Given the description of an element on the screen output the (x, y) to click on. 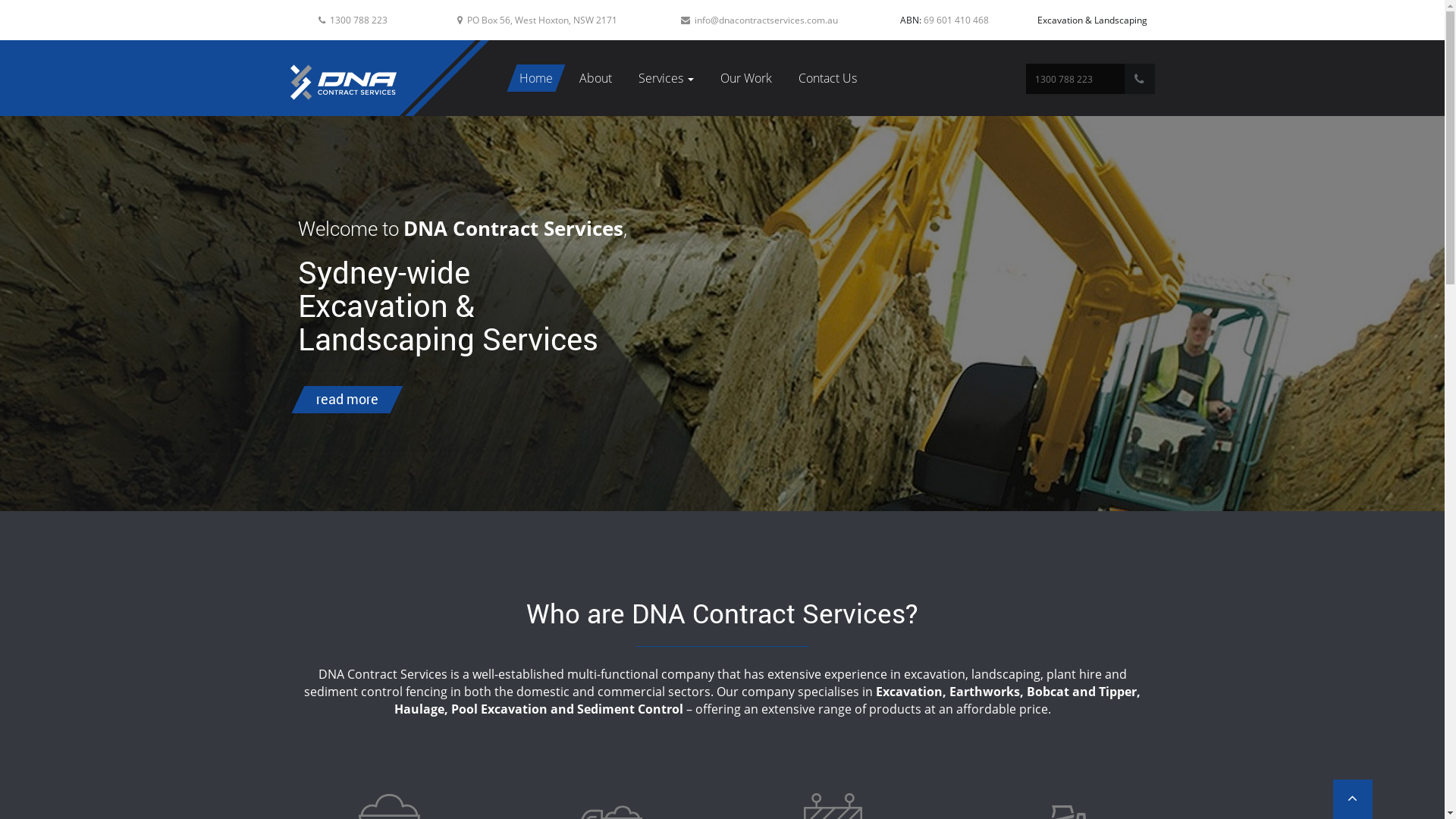
Services Element type: text (665, 77)
Contact Us Element type: text (827, 77)
read more Element type: text (340, 399)
Home Element type: text (535, 77)
About Element type: text (595, 77)
Our Work Element type: text (745, 77)
info@dnacontractservices.com.au Element type: text (765, 19)
